Given the description of an element on the screen output the (x, y) to click on. 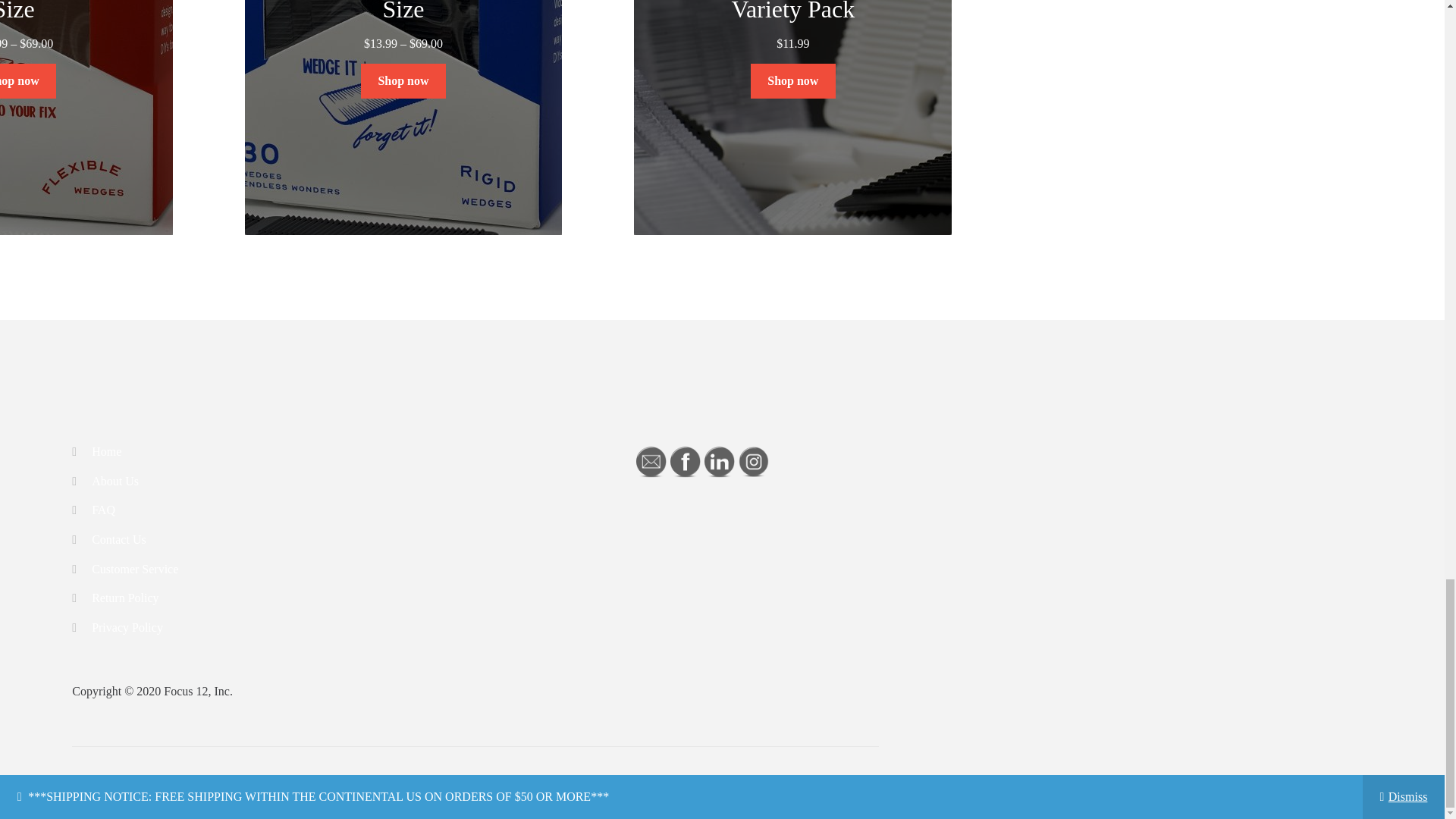
Shop now (793, 80)
Follow by Email (651, 461)
Home (105, 451)
LinkedIn (719, 461)
Return Policy (124, 597)
Contact Us (119, 539)
Instagram (753, 461)
FAQ (103, 509)
About Us (114, 481)
Shop now (28, 80)
Shop now (403, 80)
Customer Service (134, 568)
Facebook (684, 461)
Privacy Policy (127, 626)
